Given the description of an element on the screen output the (x, y) to click on. 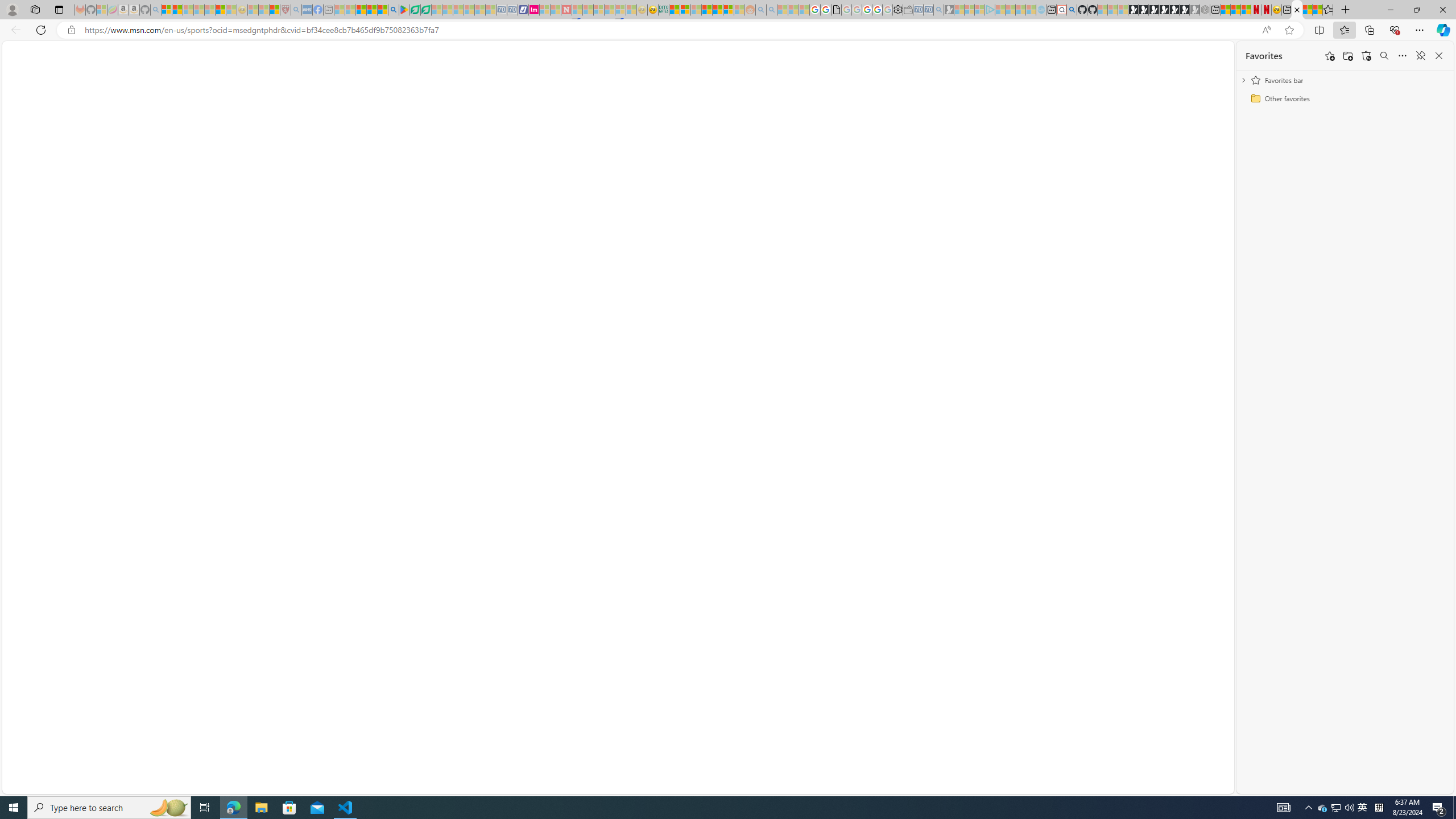
Close favorites (1439, 55)
Pets - MSN (371, 9)
Restore deleted favorites (1366, 55)
Microsoft Word - consumer-privacy address update 2.2021 (426, 9)
